Given the description of an element on the screen output the (x, y) to click on. 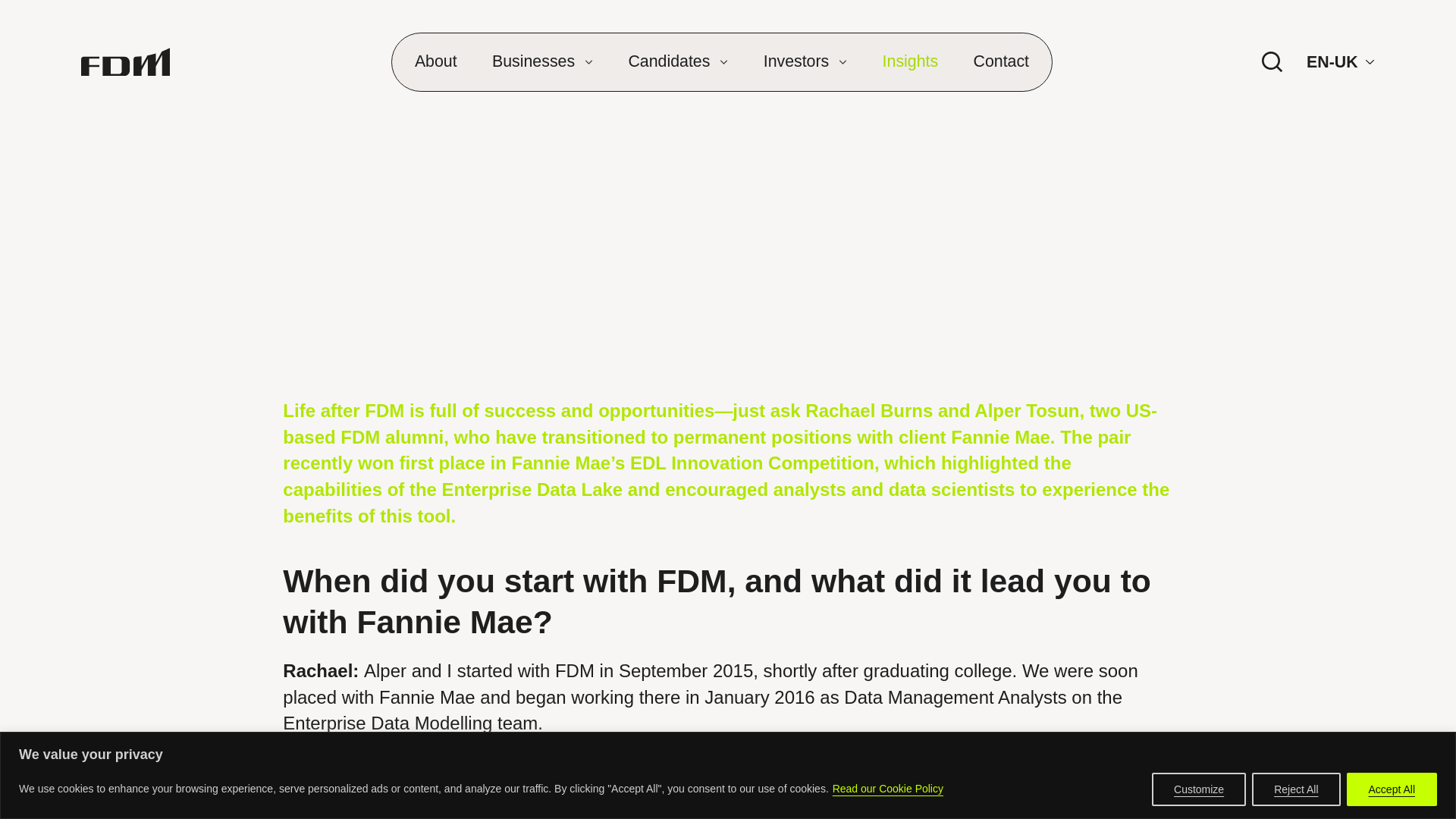
Accept All (1391, 788)
Customize (1198, 788)
Candidates (677, 61)
Reject All (1295, 788)
Insights (910, 61)
Read our Cookie Policy (887, 788)
Businesses (542, 61)
Contact (1001, 61)
EN-UK (1340, 61)
Investors (804, 61)
